Given the description of an element on the screen output the (x, y) to click on. 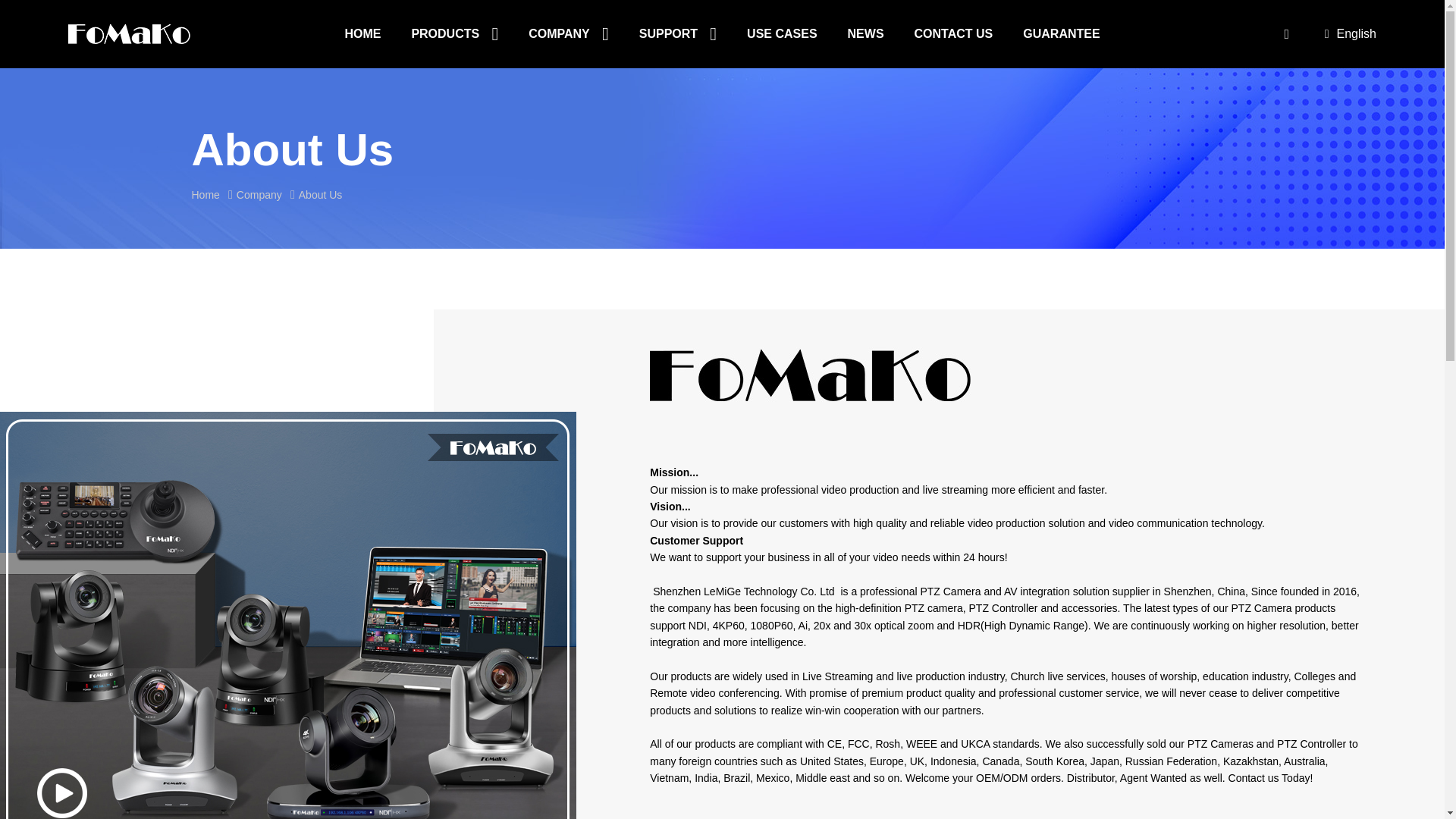
COMPANY (568, 33)
PRODUCTS (453, 33)
